Given the description of an element on the screen output the (x, y) to click on. 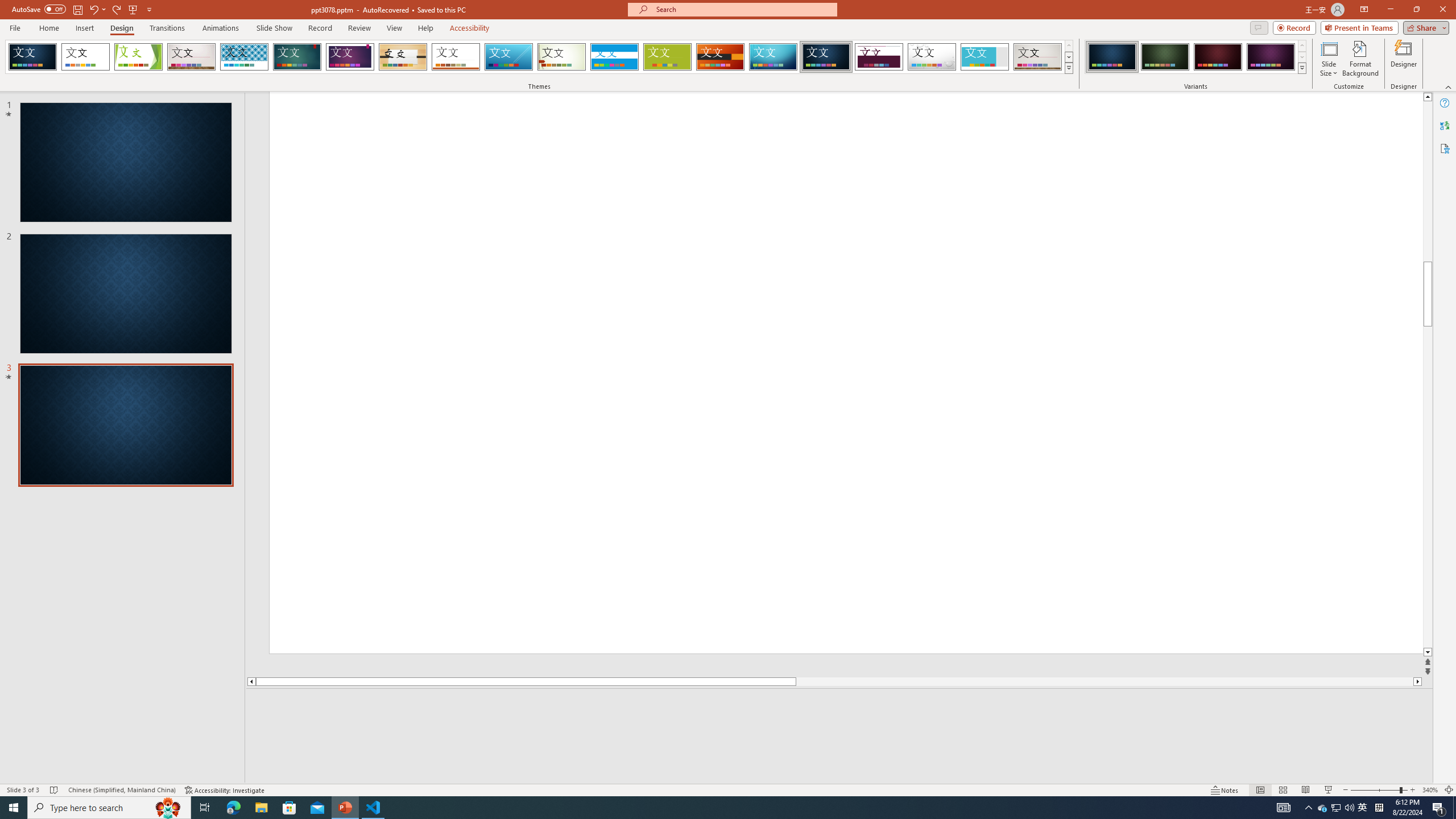
AutomationID: SlideThemesGallery (539, 56)
Circuit (772, 56)
Damask Variant 2 (1164, 56)
Frame (984, 56)
